Given the description of an element on the screen output the (x, y) to click on. 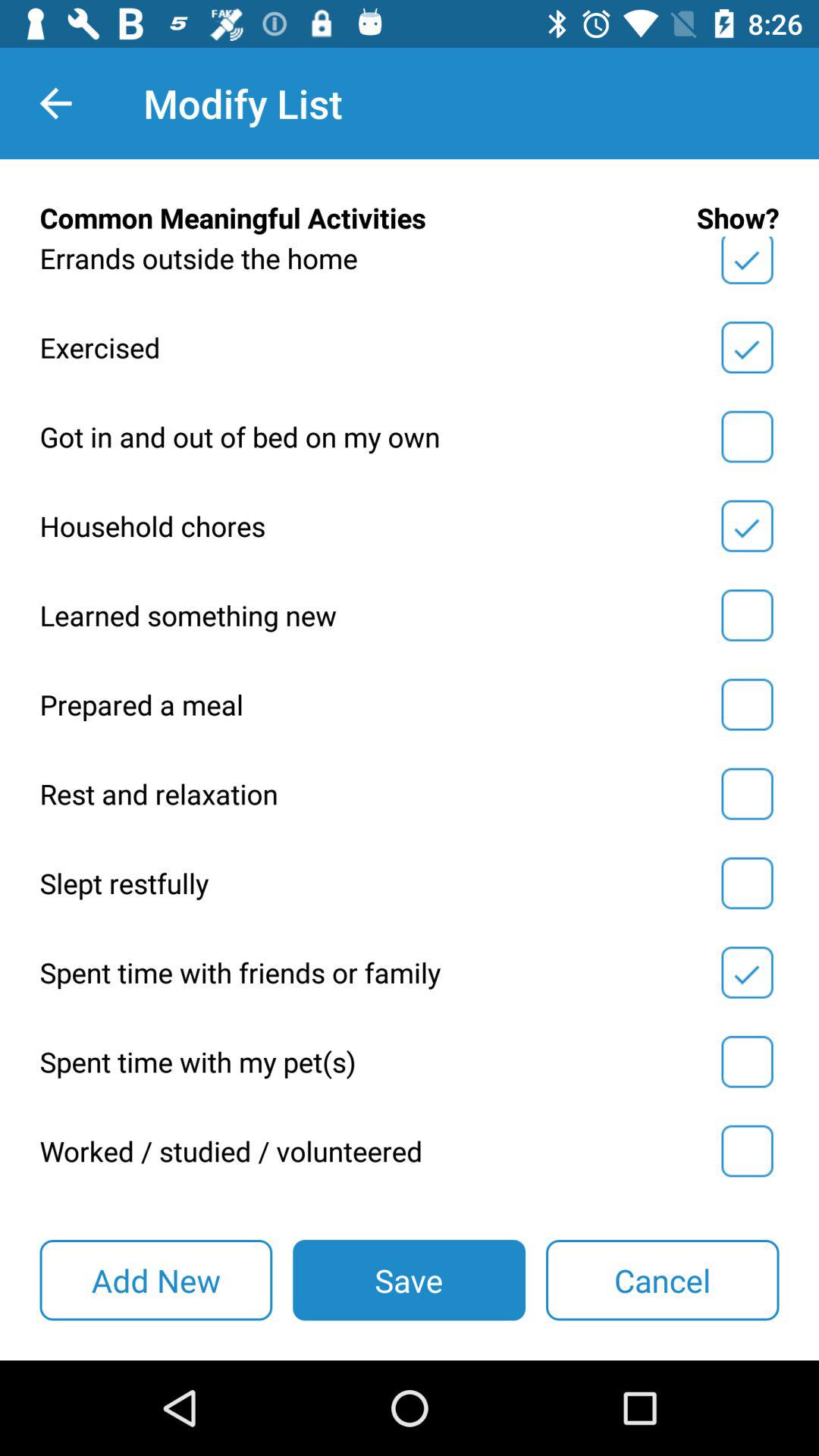
check or uncheck box for errands outside the home (747, 263)
